Given the description of an element on the screen output the (x, y) to click on. 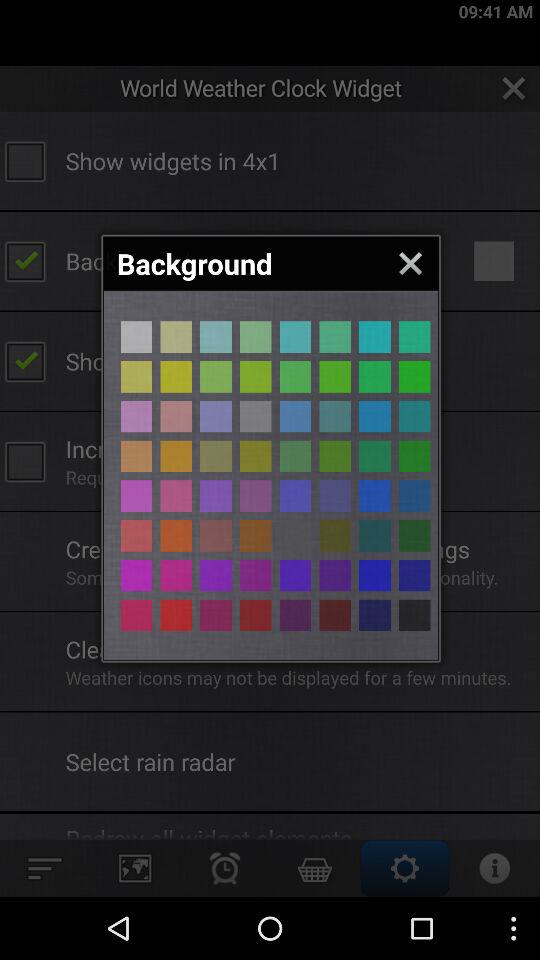
select option (414, 615)
